Given the description of an element on the screen output the (x, y) to click on. 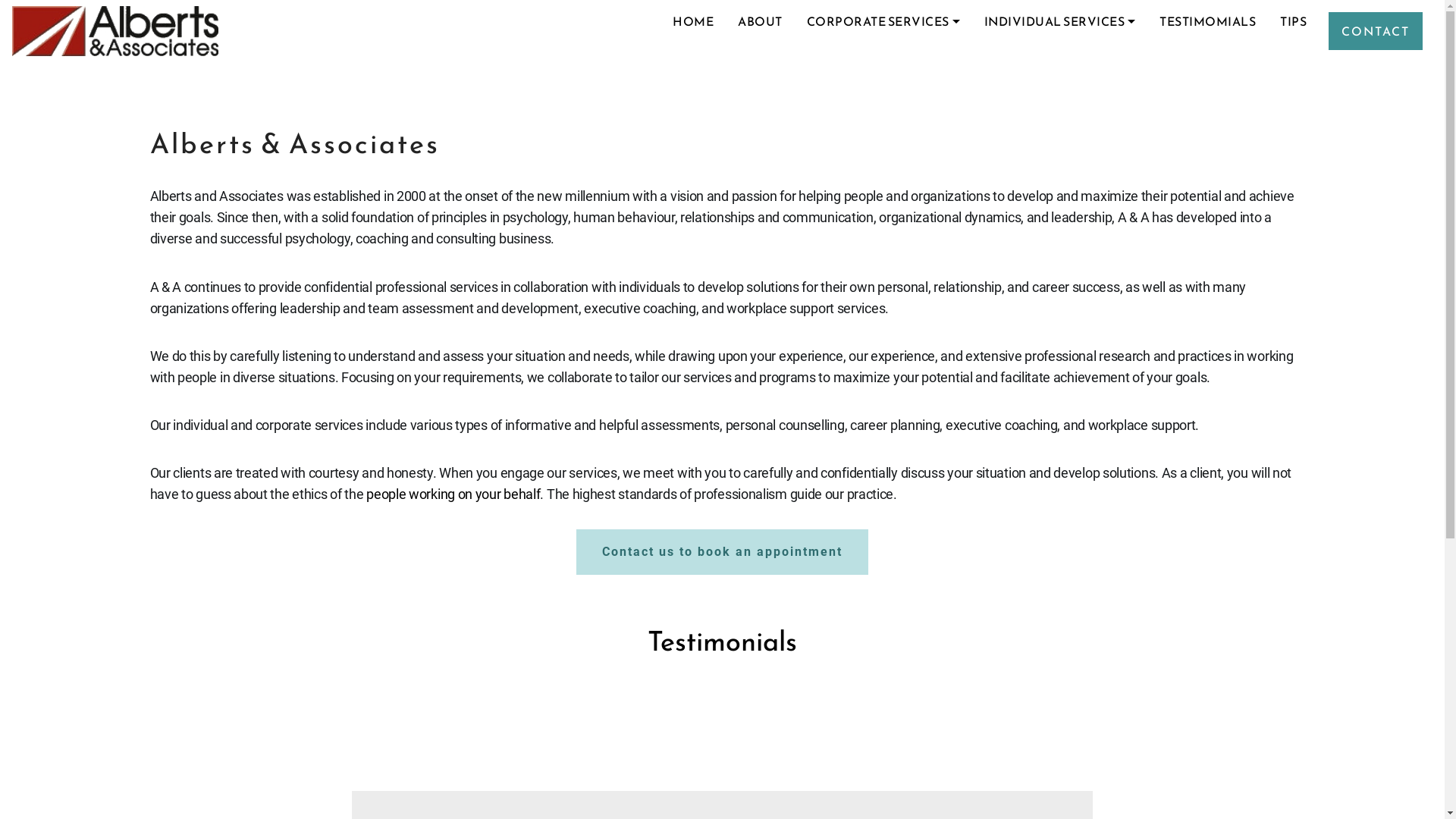
CONTACT Element type: text (1375, 31)
CORPORATE SERVICES Element type: text (883, 21)
people working on your behalf Element type: text (452, 494)
INDIVIDUAL SERVICES Element type: text (1059, 21)
TESTIMOMIALS Element type: text (1207, 21)
ABOUT Element type: text (759, 21)
HOME Element type: text (692, 21)
TIPS Element type: text (1293, 21)
Contact us to book an appointment Element type: text (722, 551)
